Given the description of an element on the screen output the (x, y) to click on. 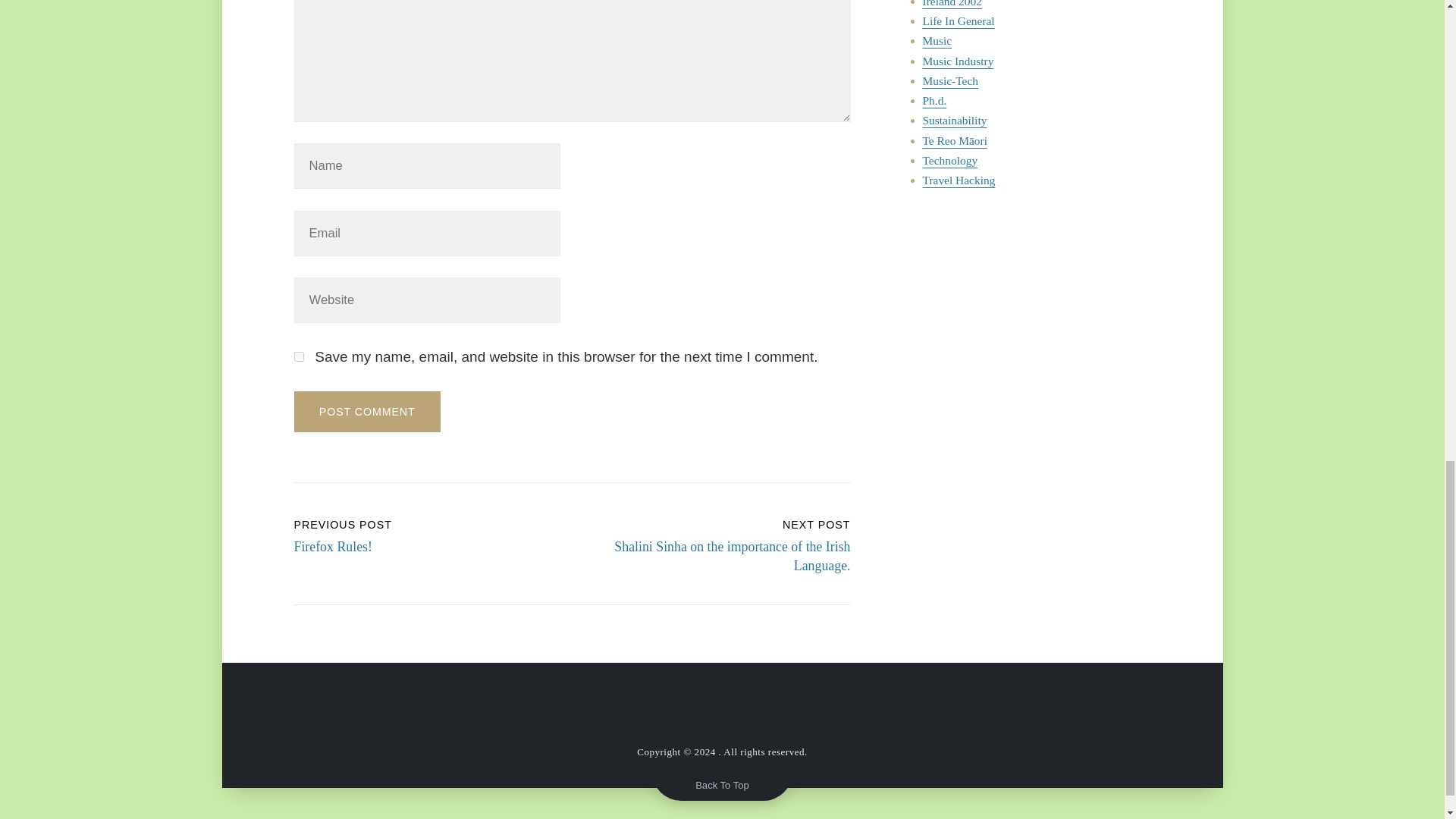
Post Comment (367, 411)
Back To Top (722, 785)
yes (299, 356)
